Given the description of an element on the screen output the (x, y) to click on. 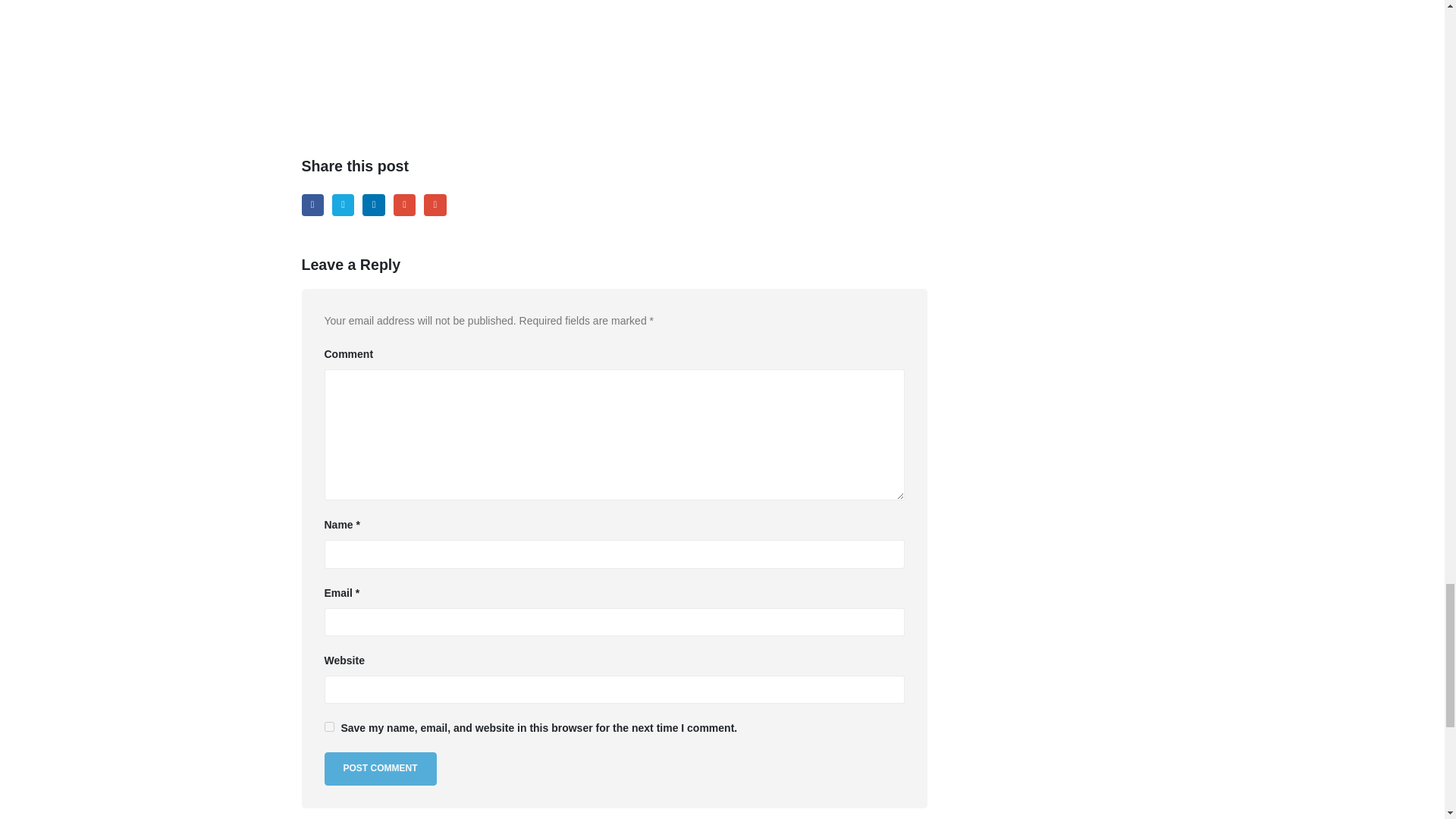
Twitter (342, 205)
Twitter (342, 205)
LinkedIn (373, 205)
Email (434, 205)
Facebook (312, 205)
Facebook (312, 205)
yes (329, 726)
Post Comment (380, 768)
